Given the description of an element on the screen output the (x, y) to click on. 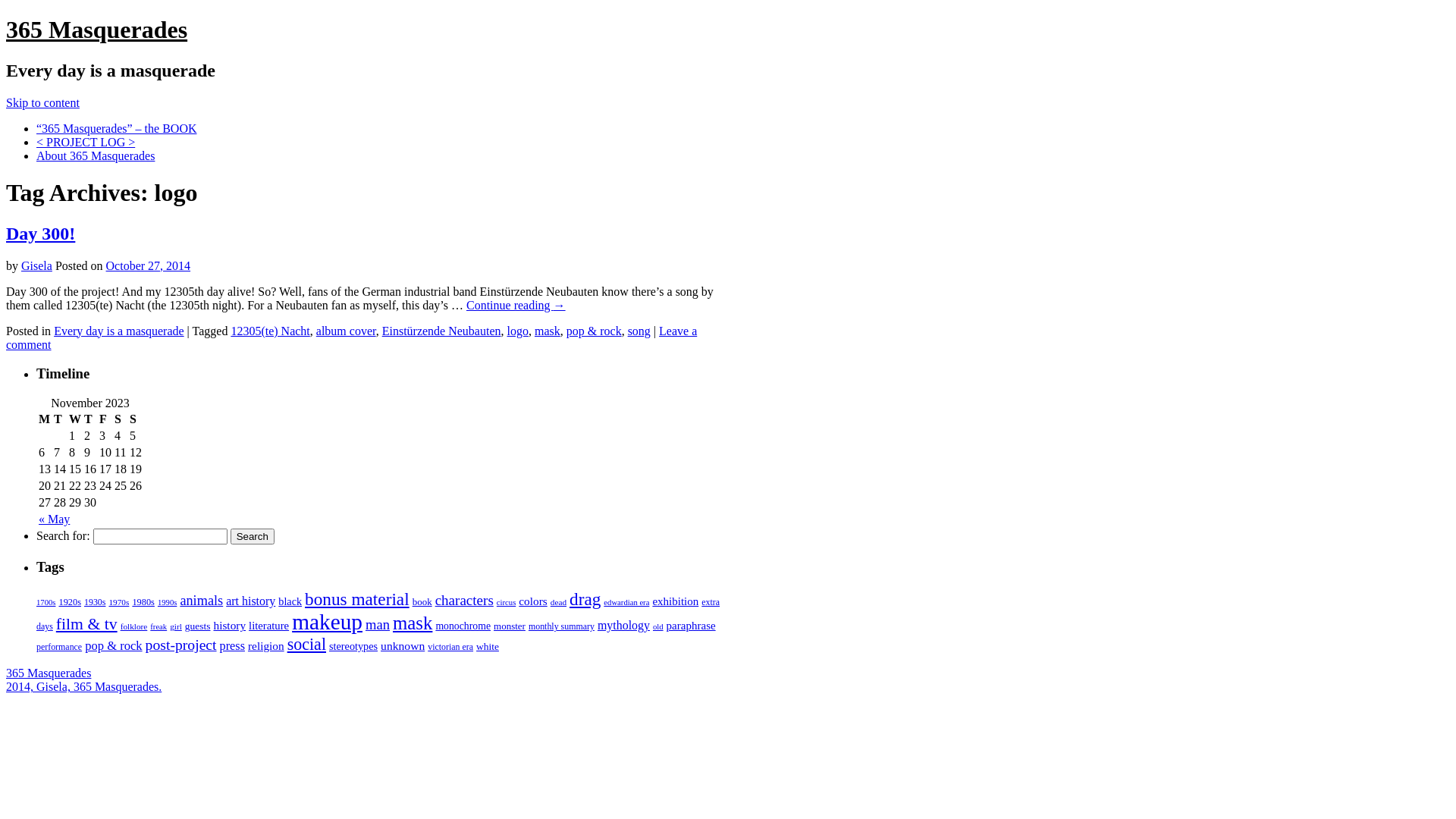
bonus material Element type: text (356, 598)
white Element type: text (487, 646)
freak Element type: text (158, 626)
literature Element type: text (268, 625)
12305(te) Nacht Element type: text (269, 330)
Every day is a masquerade Element type: text (118, 330)
mythology Element type: text (623, 624)
October 27, 2014 Element type: text (148, 265)
girl Element type: text (175, 625)
extra days Element type: text (377, 613)
1930s Element type: text (94, 601)
edwardian era Element type: text (626, 602)
unknown Element type: text (402, 645)
Leave a comment Element type: text (351, 337)
book Element type: text (422, 601)
1970s Element type: text (118, 601)
mask Element type: text (547, 330)
1700s Element type: text (45, 602)
365 Masquerades Element type: text (96, 29)
dead Element type: text (558, 601)
365 Masquerades Element type: text (48, 672)
religion Element type: text (265, 645)
colors Element type: text (532, 600)
makeup Element type: text (326, 621)
pop & rock Element type: text (112, 645)
1990s Element type: text (166, 602)
circus Element type: text (505, 602)
film & tv Element type: text (86, 624)
paraphrase Element type: text (690, 625)
Skip to content Element type: text (42, 102)
Gisela Element type: text (36, 265)
About 365 Masquerades Element type: text (95, 155)
Day 300! Element type: text (40, 233)
post-project Element type: text (180, 644)
monthly summary Element type: text (561, 626)
black Element type: text (289, 601)
social Element type: text (306, 643)
1980s Element type: text (142, 601)
art history Element type: text (250, 600)
mask Element type: text (412, 622)
man Element type: text (377, 624)
Search Element type: text (252, 536)
performance Element type: text (58, 646)
folklore Element type: text (133, 625)
animals Element type: text (200, 600)
pop & rock Element type: text (593, 330)
characters Element type: text (464, 600)
monster Element type: text (509, 625)
press Element type: text (231, 645)
2014, Gisela, 365 Masquerades. Element type: text (83, 686)
old Element type: text (657, 626)
< PROJECT LOG > Element type: text (85, 141)
victorian era Element type: text (450, 646)
song Element type: text (638, 330)
drag Element type: text (584, 598)
exhibition Element type: text (675, 601)
guests Element type: text (197, 625)
history Element type: text (229, 624)
1920s Element type: text (69, 601)
monochrome Element type: text (462, 625)
stereotypes Element type: text (353, 646)
album cover Element type: text (346, 330)
logo Element type: text (517, 330)
